Given the description of an element on the screen output the (x, y) to click on. 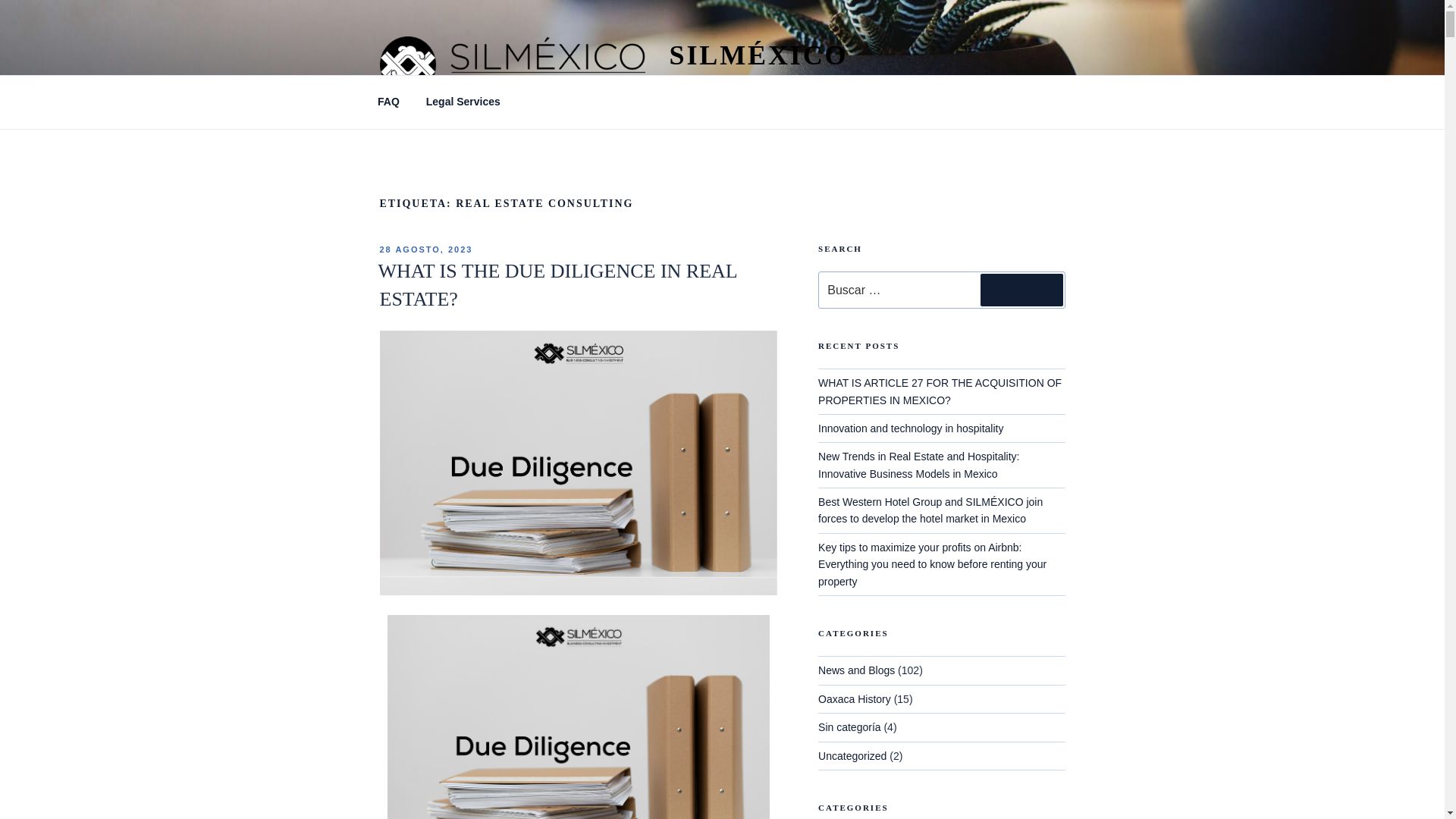
Legal Services (462, 101)
28 AGOSTO, 2023 (424, 248)
FAQ (388, 101)
WHAT IS THE DUE DILIGENCE IN REAL ESTATE? (556, 284)
